Given the description of an element on the screen output the (x, y) to click on. 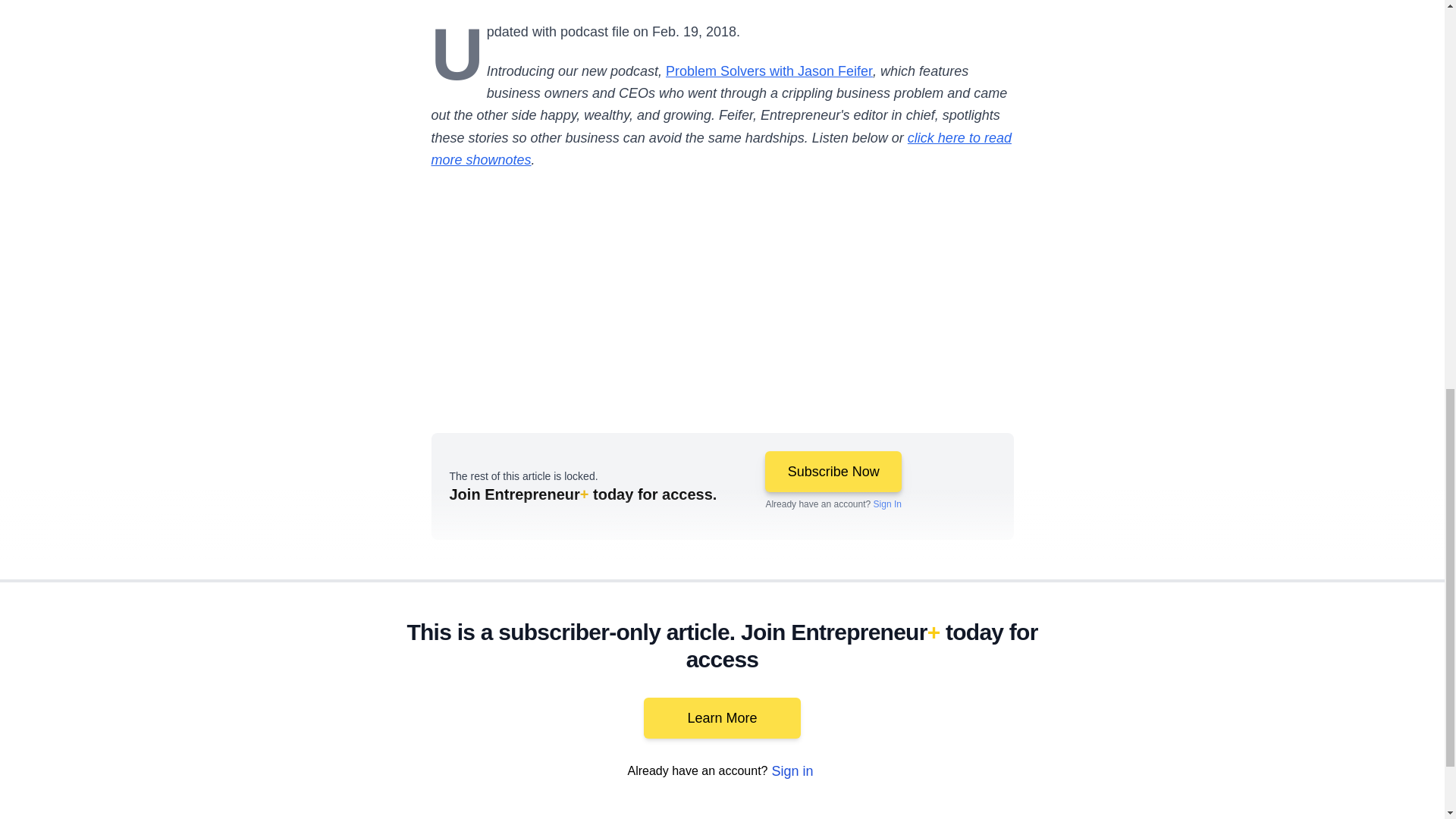
twitter (909, 778)
facebook (866, 778)
linkedin (952, 778)
youtube (994, 778)
snapchat (1121, 778)
instagram (1037, 778)
rss (1164, 778)
tiktok (1079, 778)
